Given the description of an element on the screen output the (x, y) to click on. 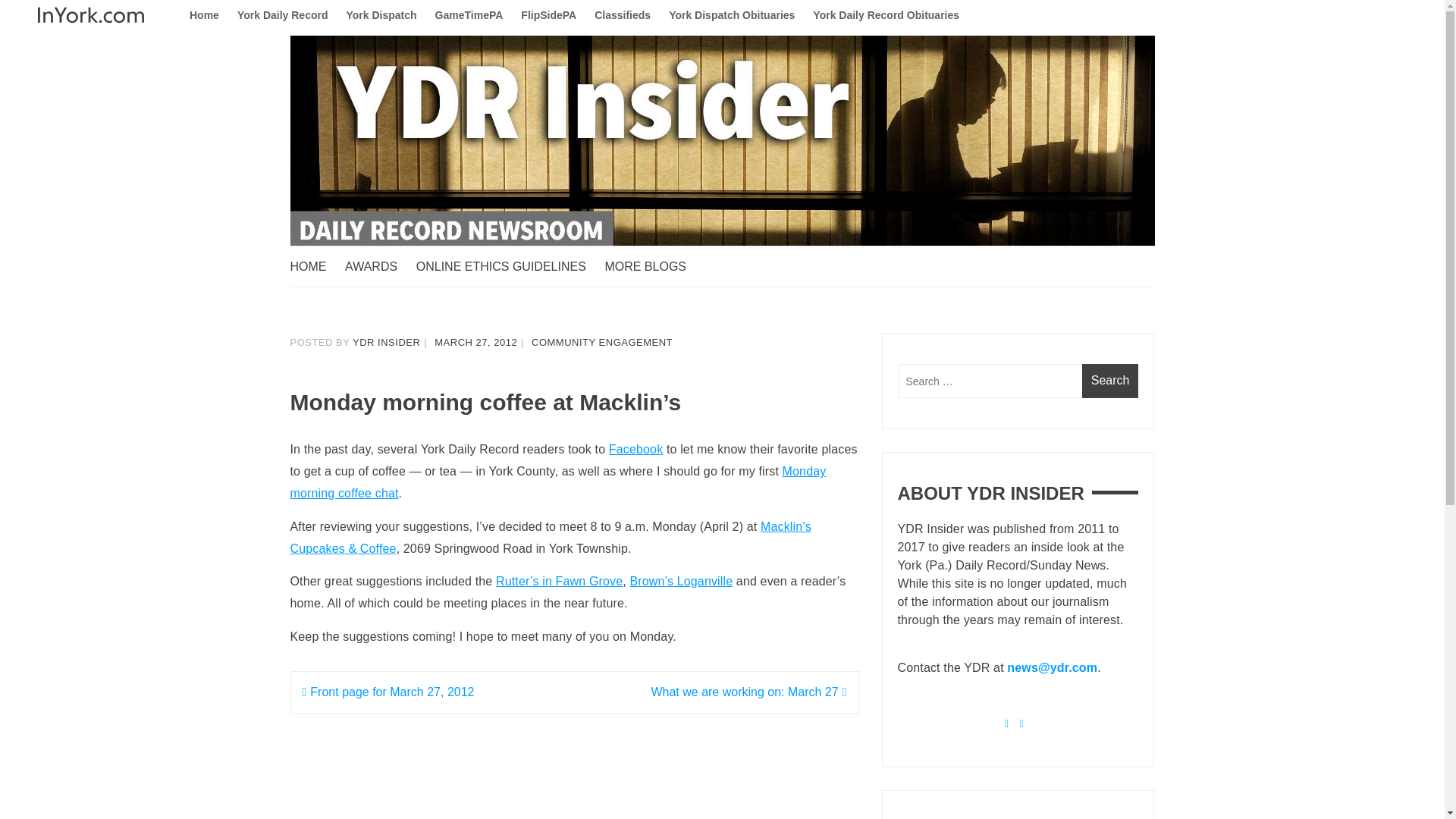
MARCH 27, 2012 (474, 342)
ONLINE ETHICS GUIDELINES (508, 266)
What we are working on: March 27 (747, 691)
YDR INSIDER (386, 342)
HOME (314, 266)
Monday morning coffee chat (557, 482)
Front page for March 27, 2012 (387, 691)
AWARDS (378, 266)
Search (1109, 380)
Facebook (635, 449)
